Given the description of an element on the screen output the (x, y) to click on. 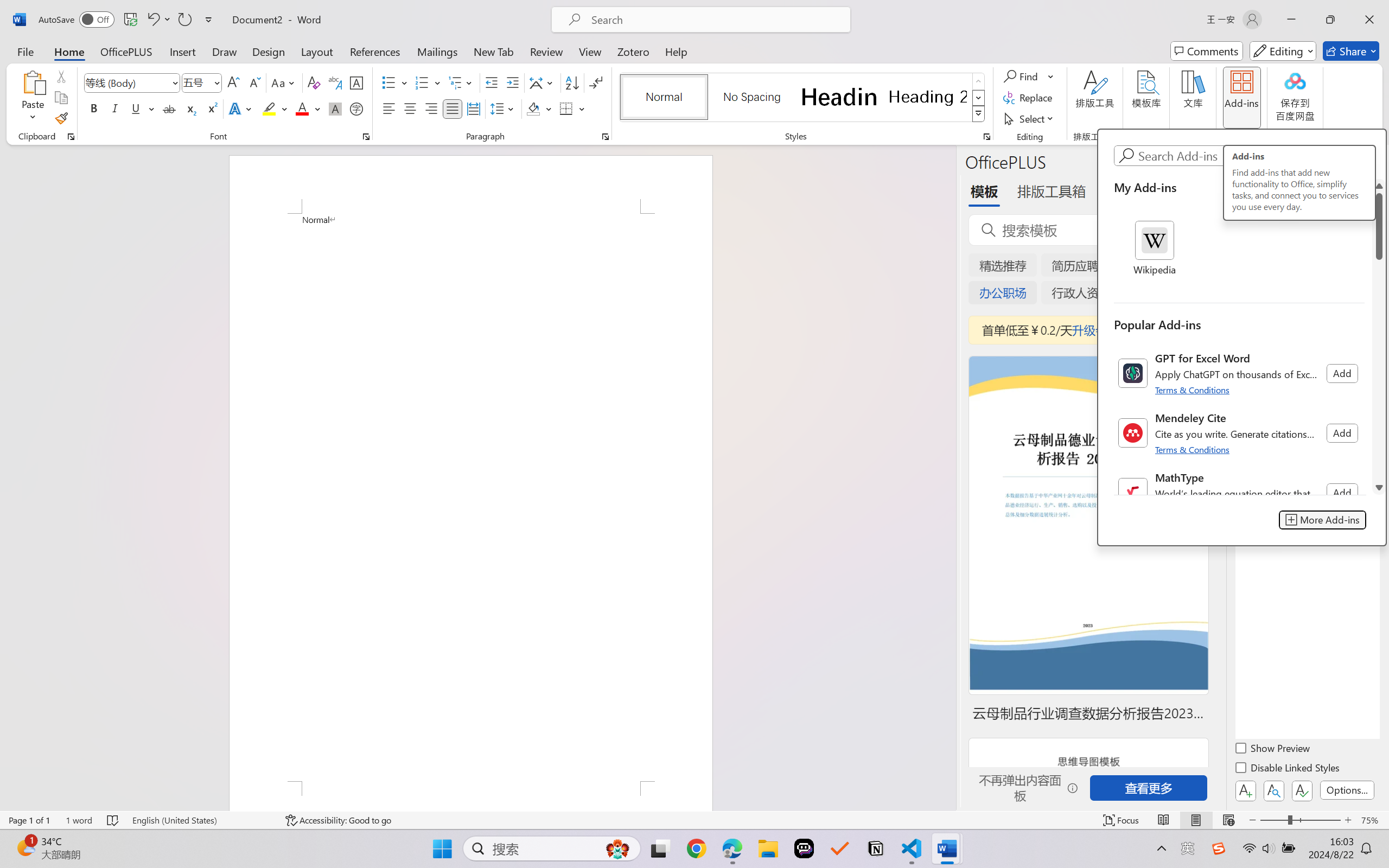
Font Size (201, 82)
Poe (804, 848)
Page down (1379, 369)
Class: NetUIButton (1301, 790)
Shading RGB(0, 0, 0) (533, 108)
Design (268, 51)
AutomationID: QuickStylesGallery (802, 97)
Options... (1346, 789)
Open (215, 82)
Paragraph... (605, 136)
Web Layout (1228, 819)
Distributed (473, 108)
